Given the description of an element on the screen output the (x, y) to click on. 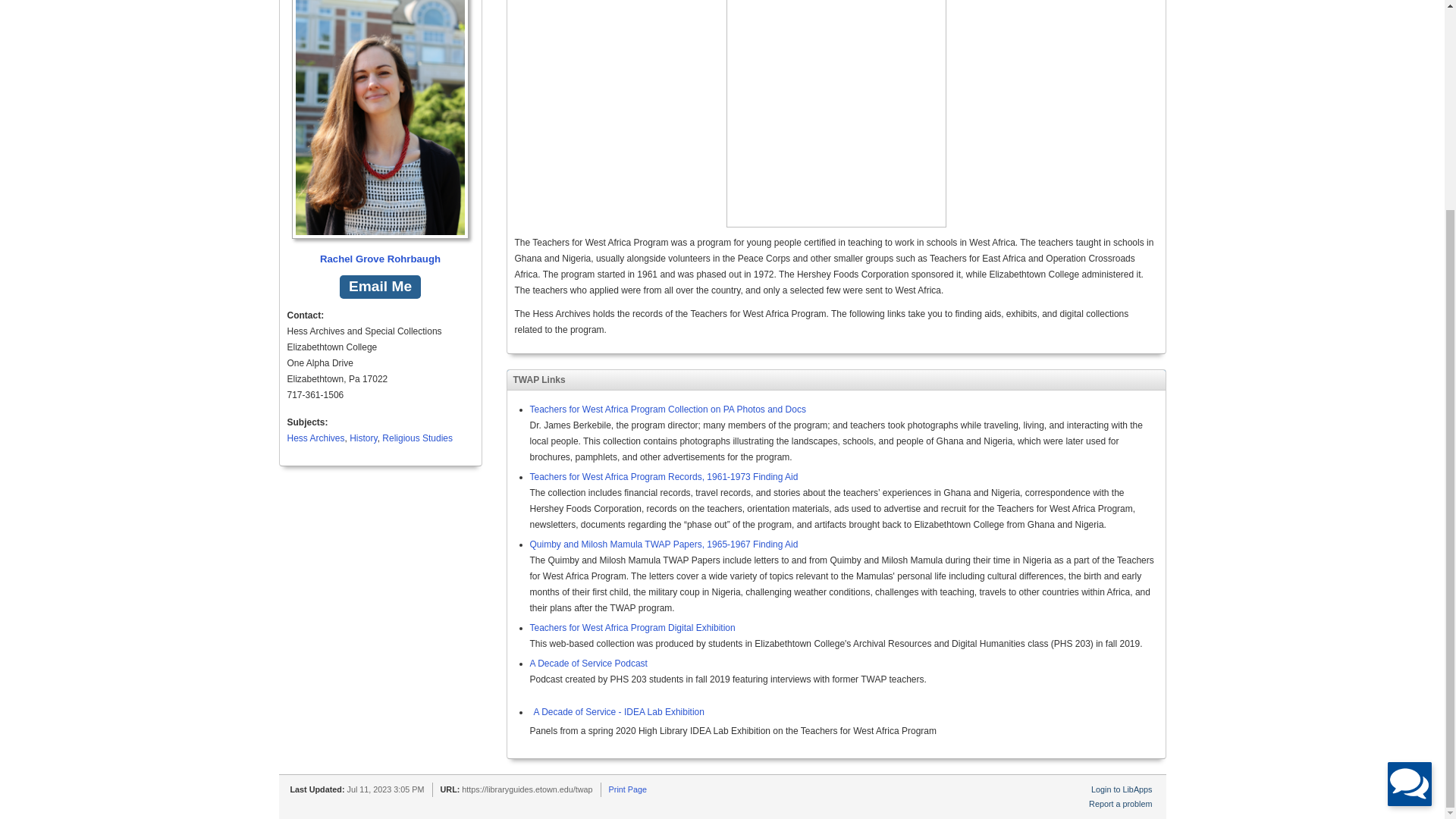
Religious Studies (416, 438)
Chat is Offline (1409, 510)
Print Page (627, 788)
Email Me (379, 286)
A Decade of Service - IDEA Lab Exhibition (616, 711)
History (363, 438)
Hess Archives (314, 438)
Login to LibApps (1120, 788)
Teachers for West Africa Program Digital Exhibition (632, 627)
Report a problem (1120, 803)
Quimby and Milosh Mamula TWAP Papers, 1965-1967 Finding Aid (663, 543)
A Decade of Service Podcast (587, 663)
